Given the description of an element on the screen output the (x, y) to click on. 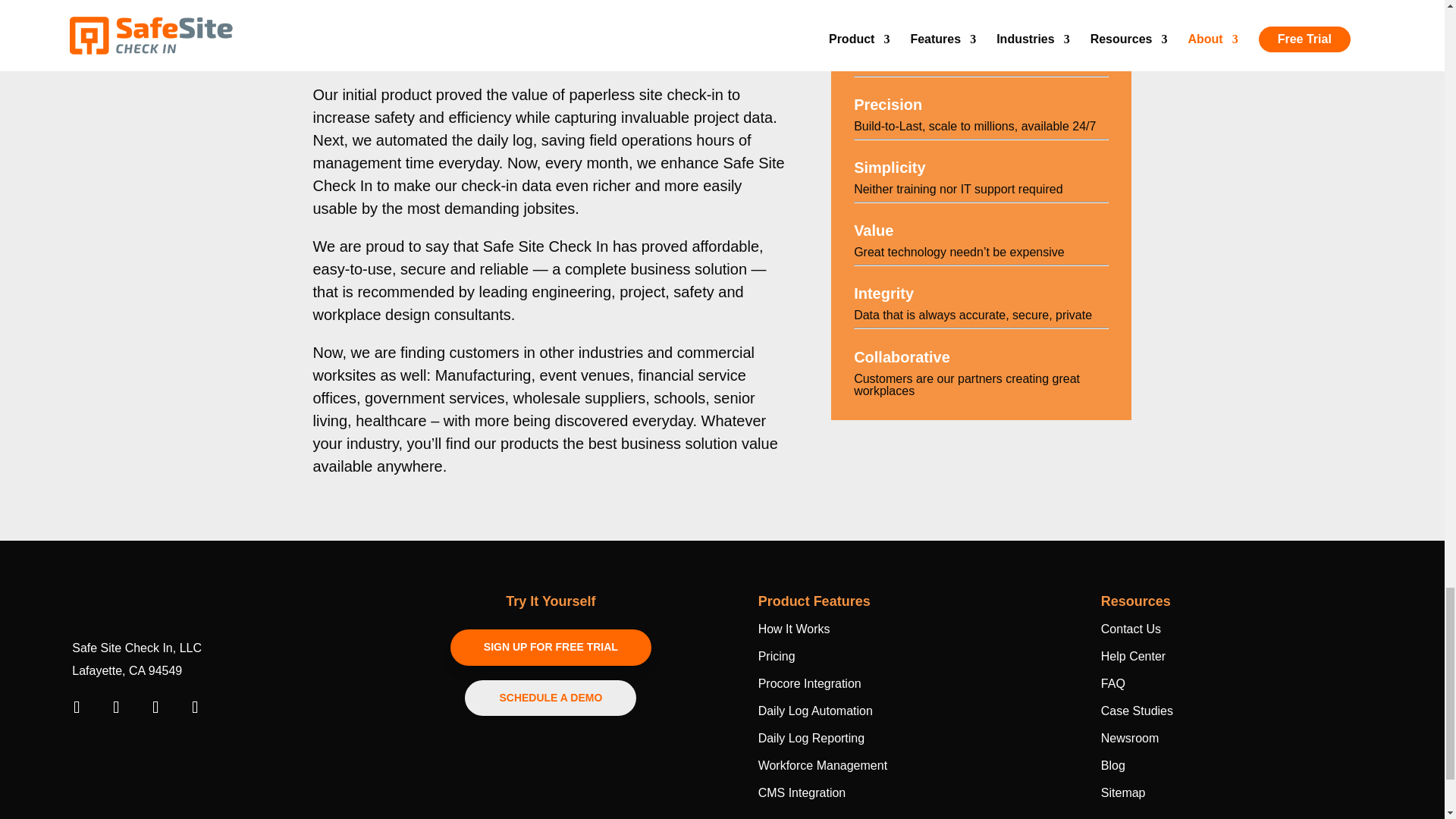
Follow on LinkedIn (115, 707)
Follow on Youtube (154, 707)
SSCI Made in USA Badge - Small White (119, 750)
Follow on X (194, 707)
Follow on Facebook (76, 707)
